Given the description of an element on the screen output the (x, y) to click on. 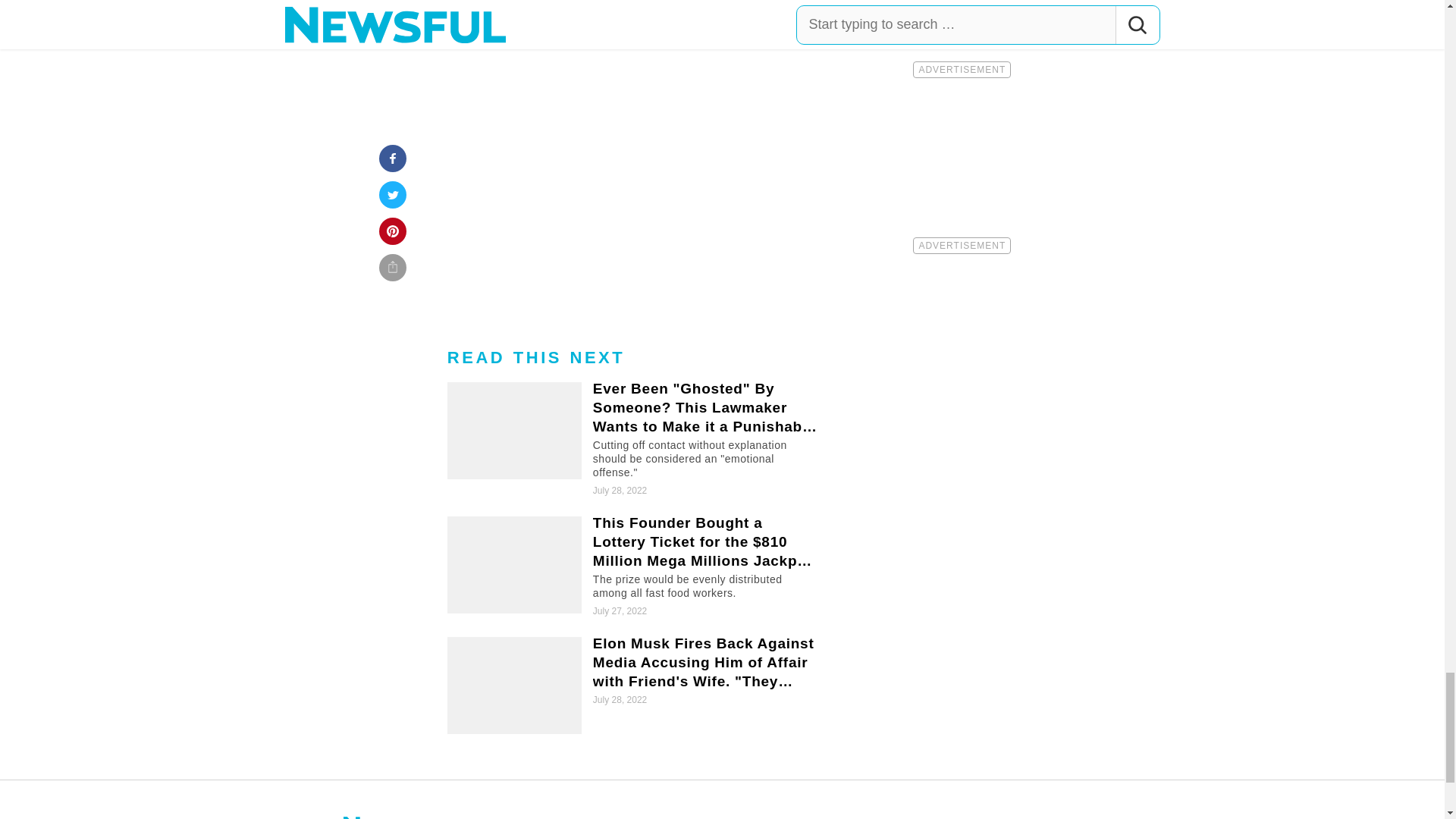
Homepage of Newsful (398, 814)
